Given the description of an element on the screen output the (x, y) to click on. 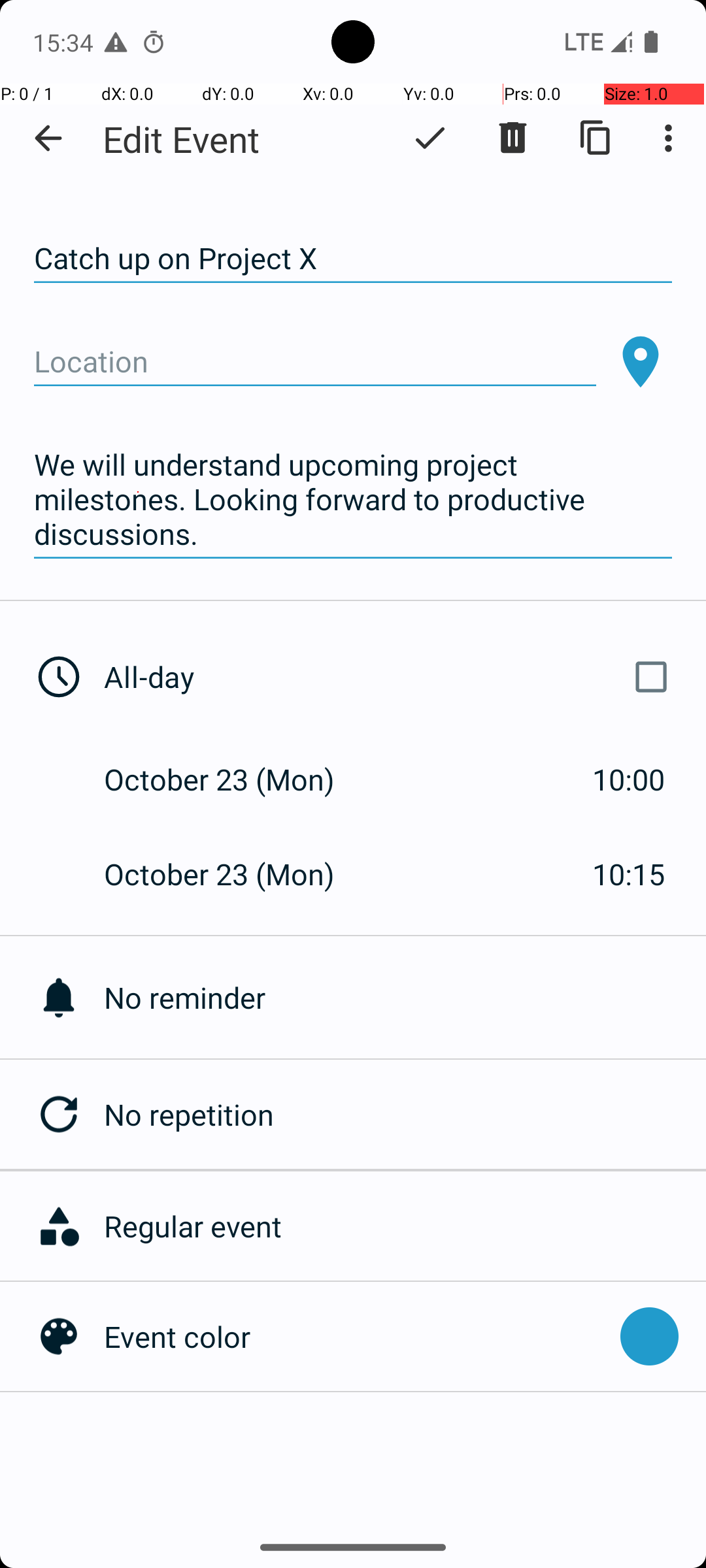
Catch up on Project X Element type: android.widget.EditText (352, 258)
We will understand upcoming project milestones. Looking forward to productive discussions. Element type: android.widget.EditText (352, 499)
October 23 (Mon) Element type: android.widget.TextView (232, 778)
10:00 Element type: android.widget.TextView (628, 778)
10:15 Element type: android.widget.TextView (628, 873)
